Given the description of an element on the screen output the (x, y) to click on. 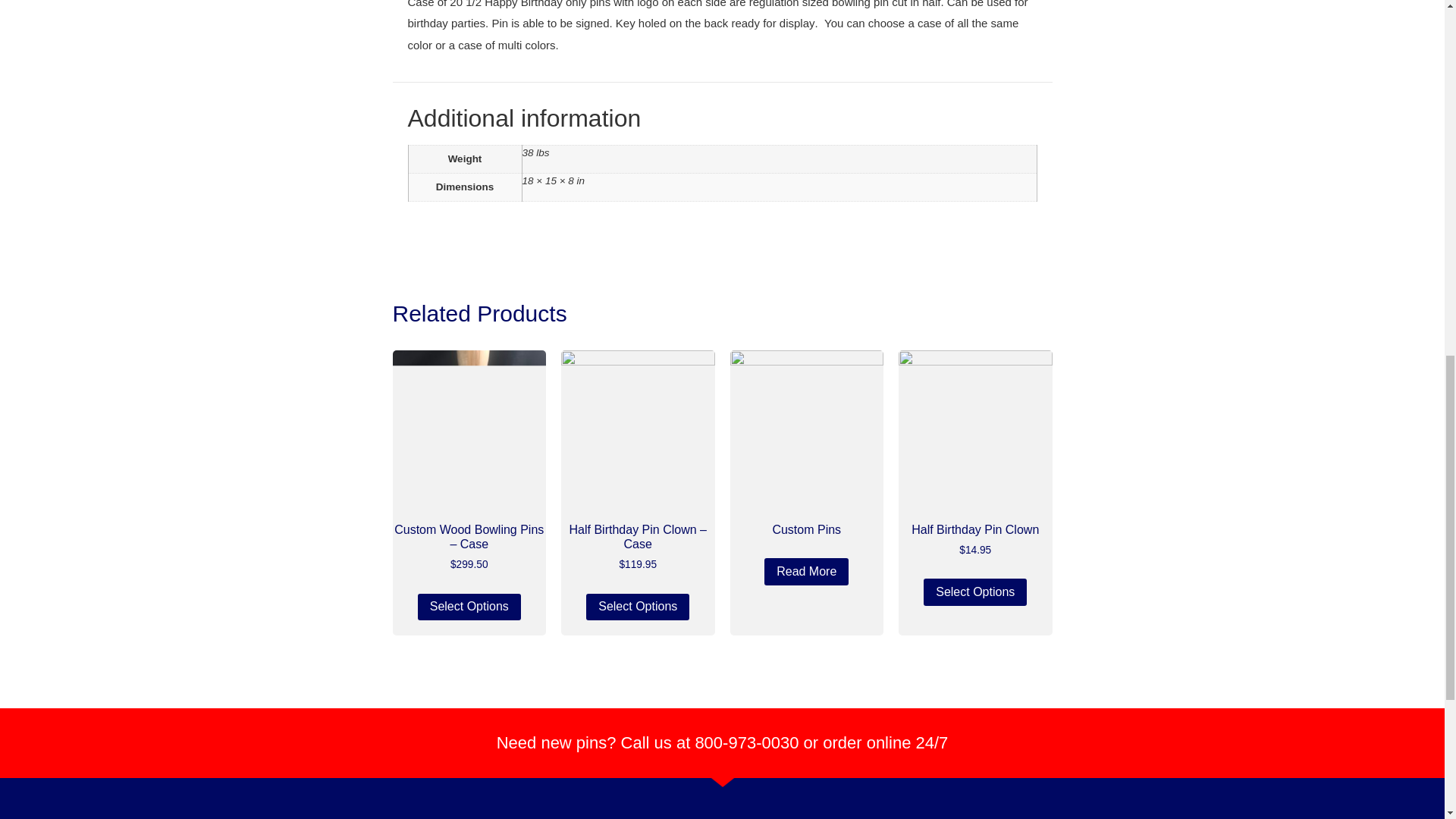
Select Options (637, 606)
Select Options (974, 592)
Read More (806, 571)
Select Options (469, 606)
